Given the description of an element on the screen output the (x, y) to click on. 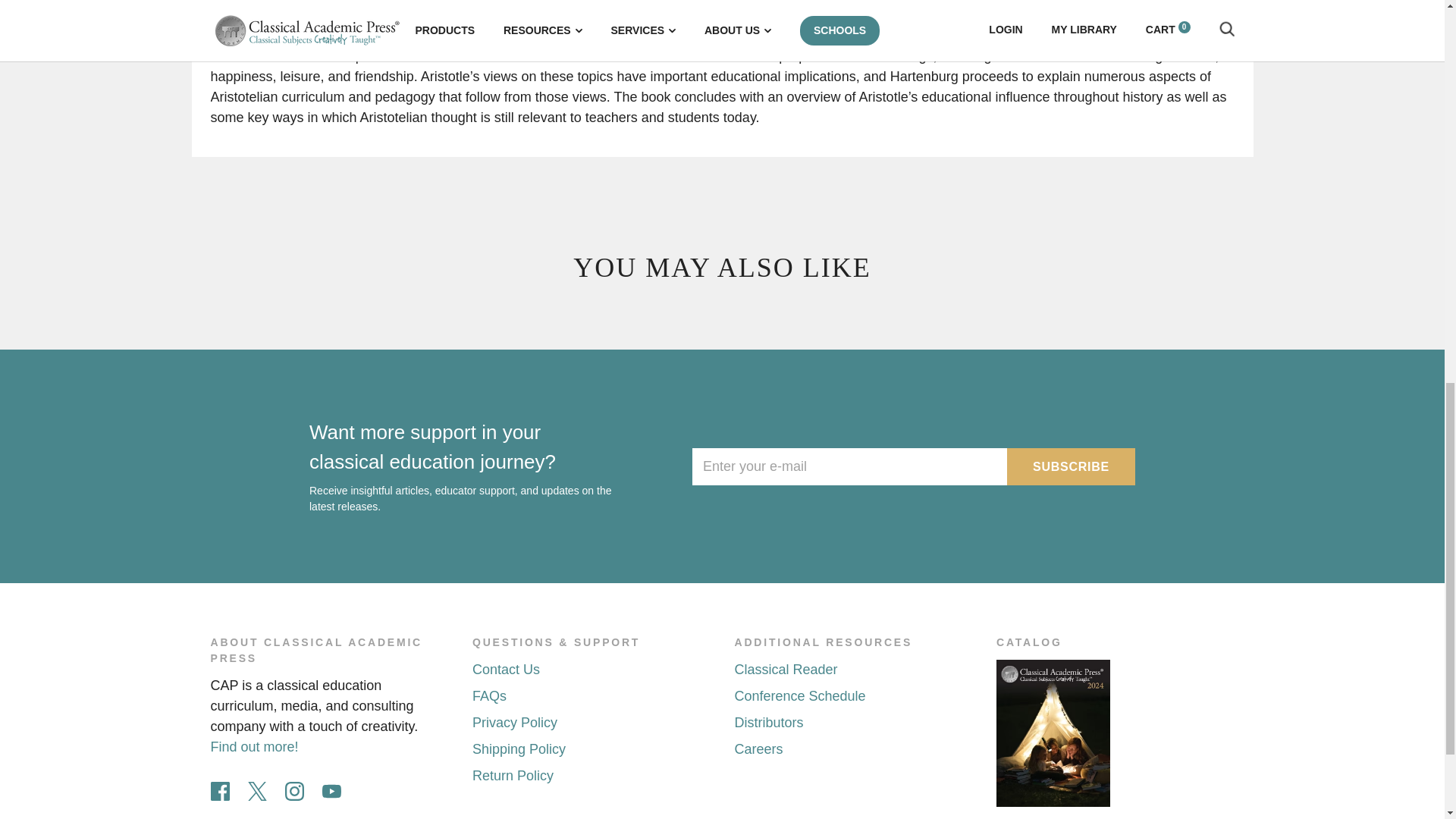
Our Story (254, 746)
YouTube (330, 791)
Twitter (256, 791)
Instagram (294, 791)
Facebook (220, 791)
Subscribe (1071, 466)
